Given the description of an element on the screen output the (x, y) to click on. 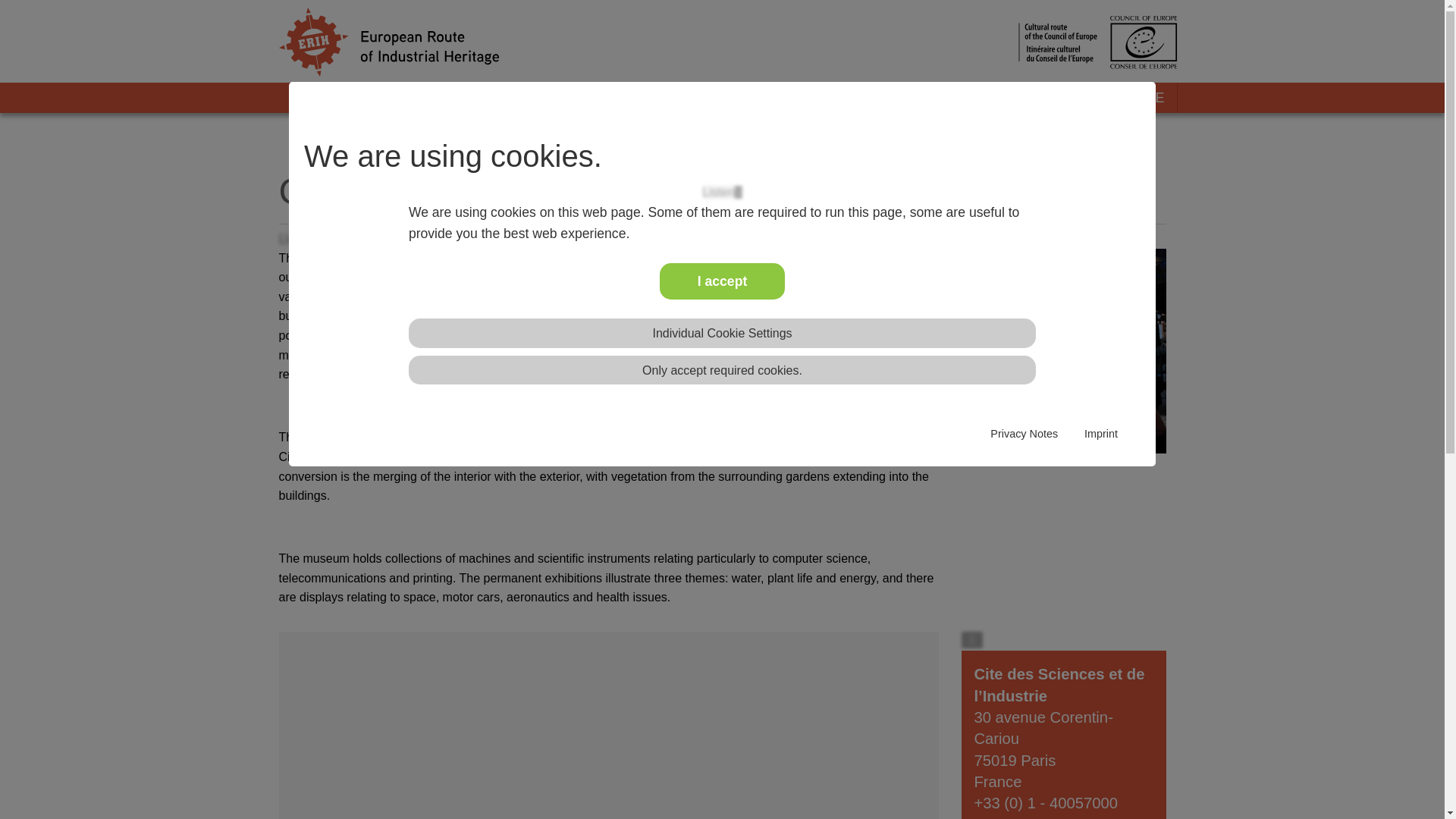
Please accept Cookies in Order to use this service (721, 192)
Only accept required cookies. (722, 369)
Individual Cookie Settings (722, 332)
I accept (722, 280)
Listen (721, 192)
Imprint (1101, 434)
Privacy Notes (1024, 434)
